Given the description of an element on the screen output the (x, y) to click on. 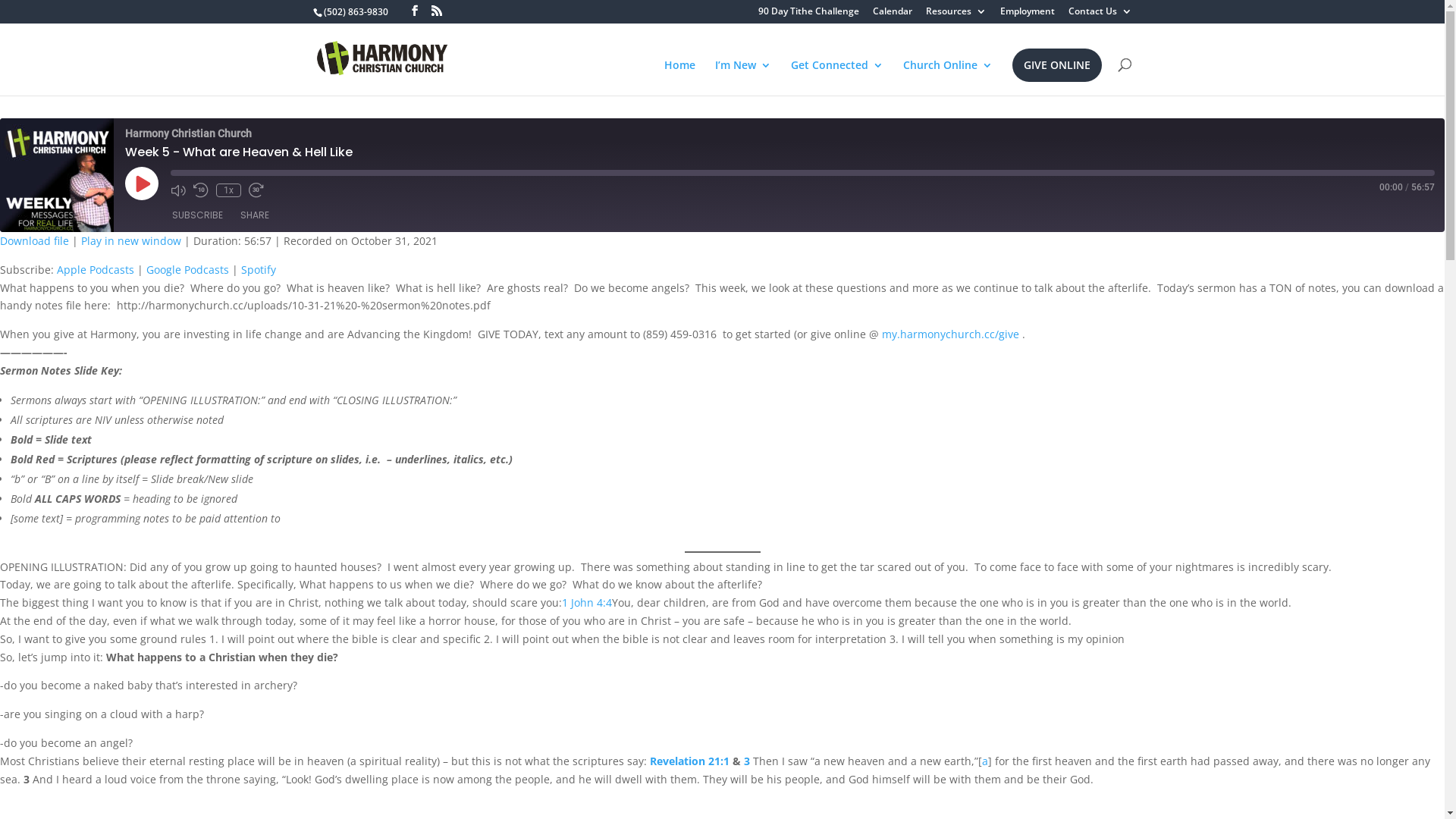
Church Online Element type: text (946, 77)
90 Day Tithe Challenge Element type: text (808, 14)
1x Element type: text (228, 190)
Apple Podcasts Element type: text (95, 269)
Calendar Element type: text (891, 14)
Play in new window Element type: text (131, 240)
Contact Us Element type: text (1099, 14)
Home Element type: text (679, 77)
my.harmonychurch.cc/give Element type: text (950, 333)
Rewind 10 Seconds Element type: text (200, 189)
1 John 4:4 Element type: text (586, 602)
3 Element type: text (746, 760)
Revelation 21:1 Element type: text (689, 760)
Harmony Christian Church Element type: hover (56, 175)
Google Podcasts Element type: text (187, 269)
Employment Element type: text (1026, 14)
Seek Element type: hover (802, 172)
a Element type: text (985, 760)
SUBSCRIBE Element type: text (197, 215)
Spotify Element type: text (258, 269)
SHARE Element type: text (254, 215)
Fast Forward 30 seconds Element type: text (255, 189)
Download file Element type: text (34, 240)
Resources Element type: text (955, 14)
GIVE ONLINE Element type: text (1056, 64)
Get Connected Element type: text (836, 77)
Mute/Unmute Episode Element type: text (177, 190)
Play Episode Element type: text (141, 183)
